Given the description of an element on the screen output the (x, y) to click on. 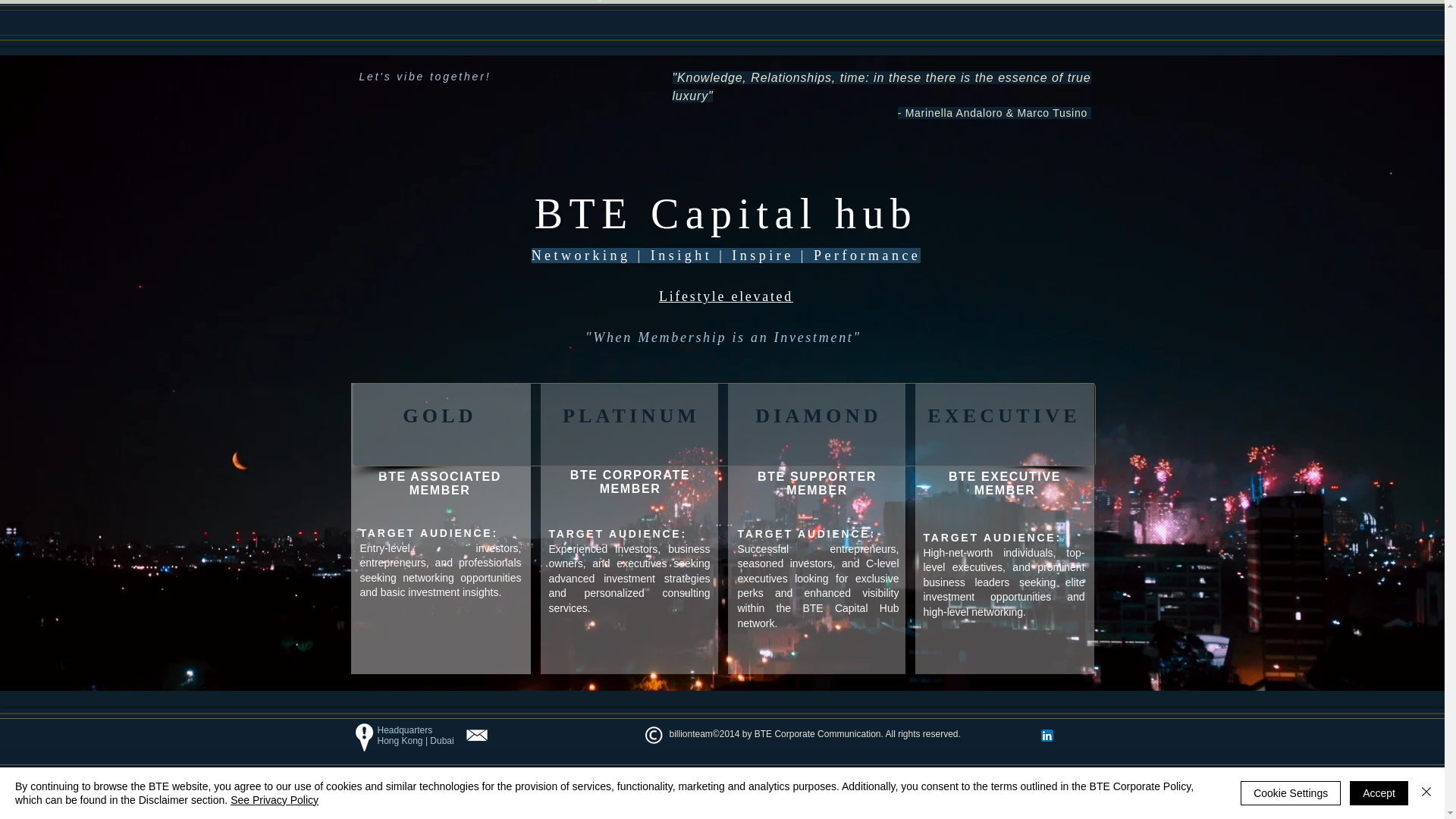
Chat via Skype (1011, 734)
Accept (1378, 793)
See Privacy Policy (274, 799)
Cookie Settings (1290, 793)
